Given the description of an element on the screen output the (x, y) to click on. 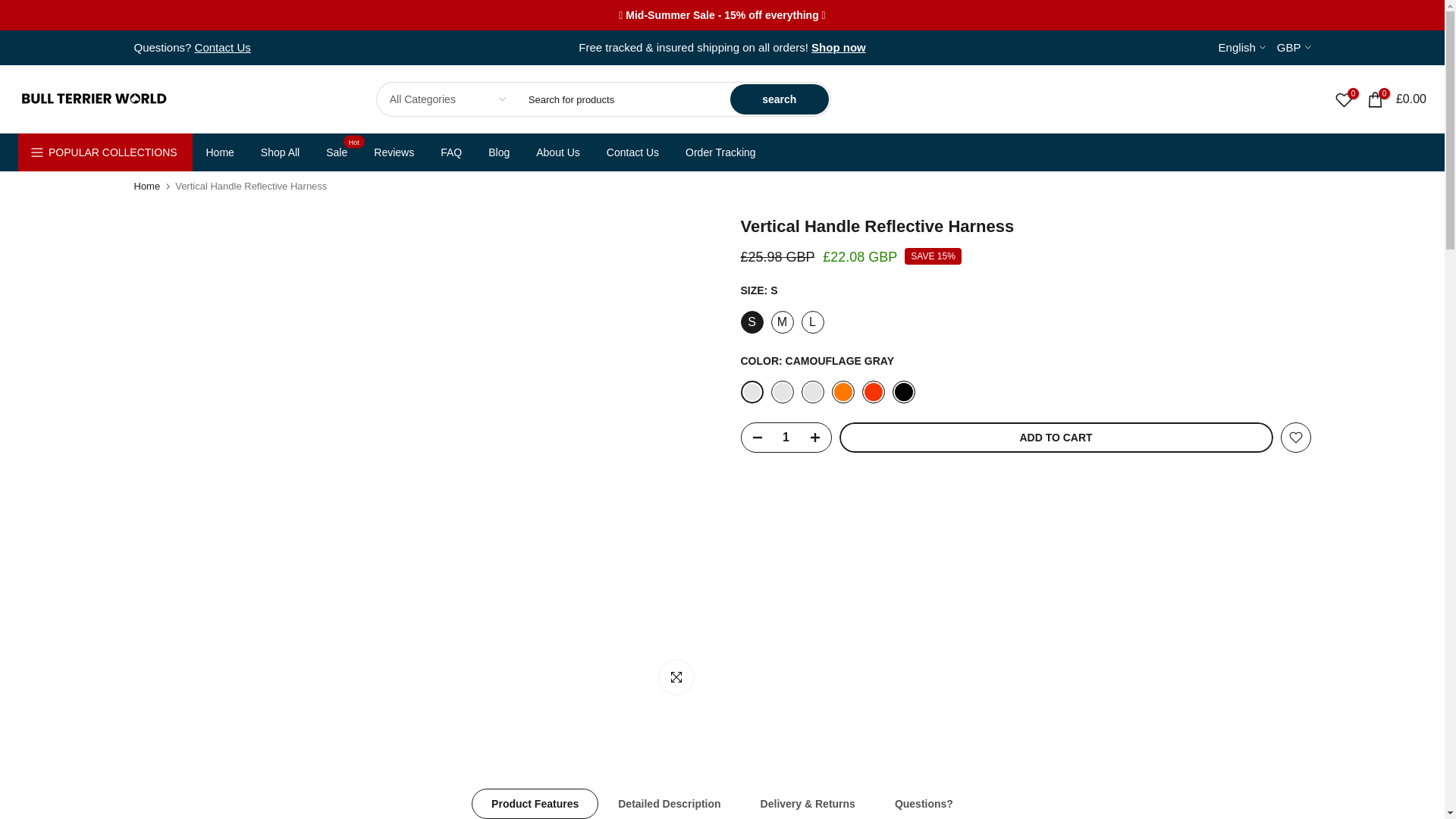
Skip to content (10, 7)
Camouflage Gray (750, 391)
Shop now (838, 47)
Red (872, 391)
Orange (842, 391)
GBP (1293, 47)
Camouflage Khaki (781, 391)
Camouflage Green (812, 391)
Contact Us (222, 47)
Black (902, 391)
1 (786, 437)
All Products (838, 47)
English (1241, 47)
